Given the description of an element on the screen output the (x, y) to click on. 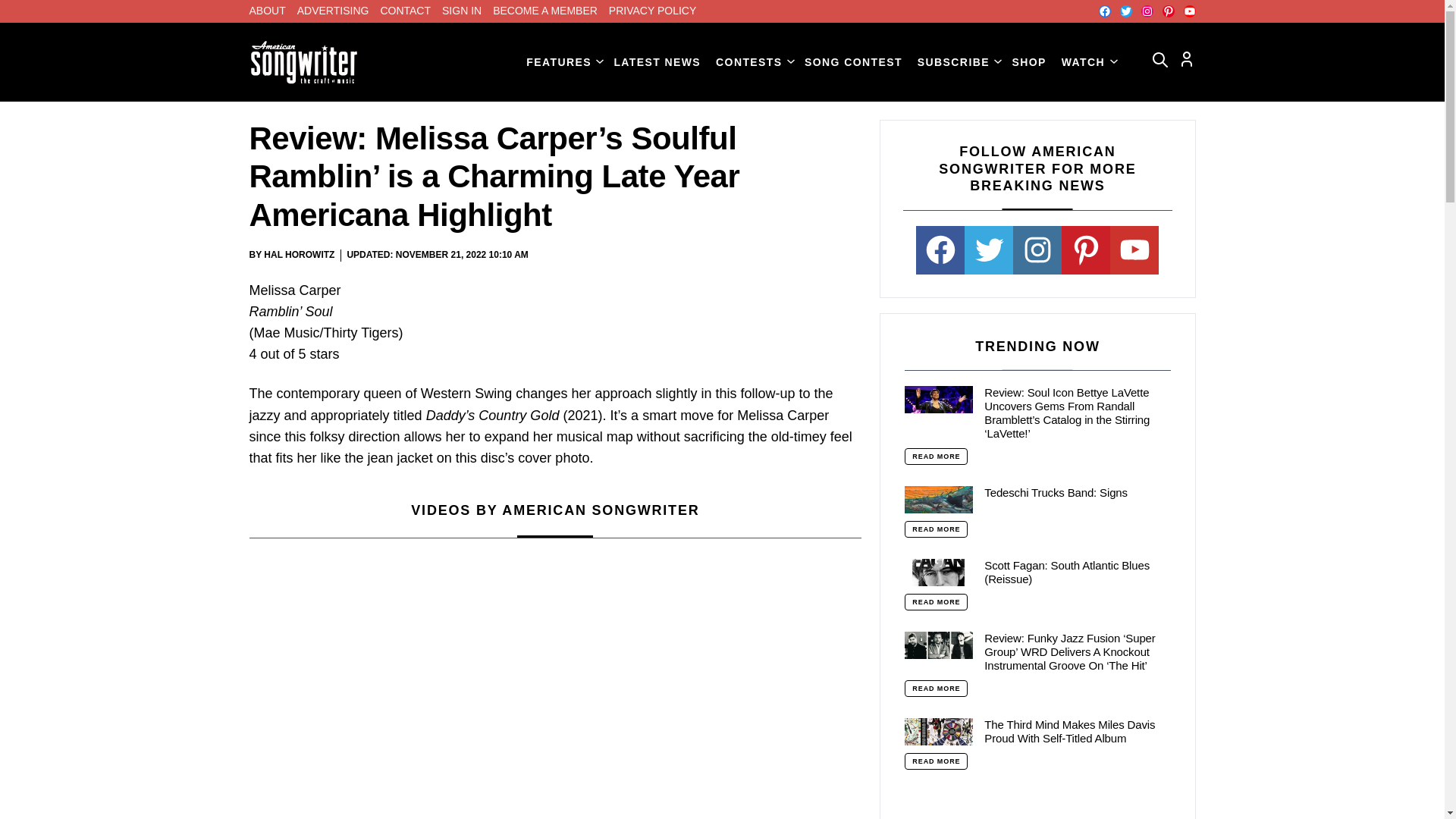
CONTACT (405, 10)
Facebook (1103, 10)
PRIVACY POLICY (651, 10)
Twitter (1125, 10)
Pinterest (1167, 10)
November 21, 2022 10:10 am (462, 255)
Instagram (1146, 10)
BECOME A MEMBER (544, 10)
ABOUT (266, 10)
Posts by Hal Horowitz (298, 254)
